Given the description of an element on the screen output the (x, y) to click on. 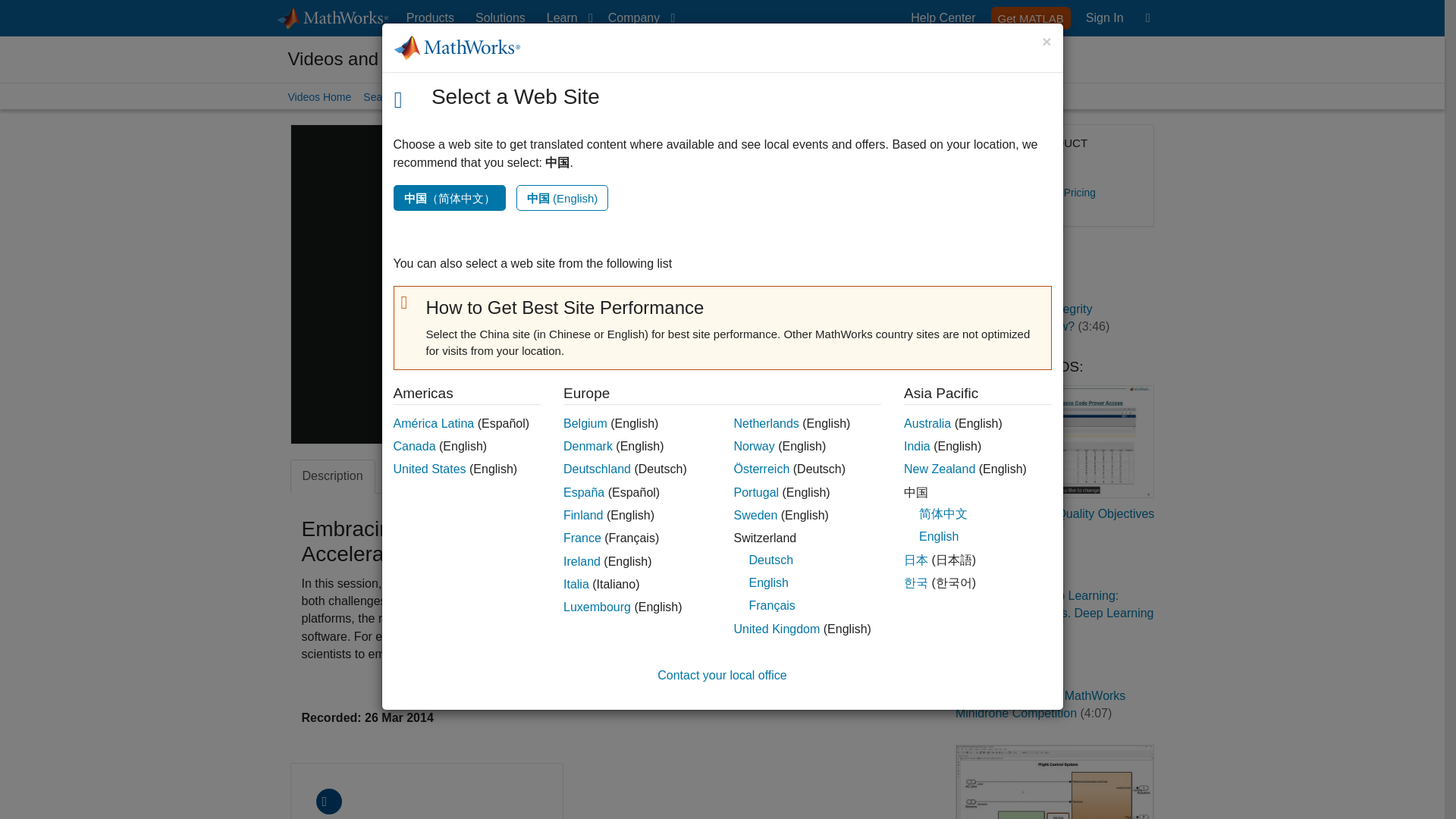
Learn (1104, 18)
Solutions (566, 18)
Play Video (499, 18)
Products (574, 284)
Get MATLAB (430, 18)
Sign In to Your MathWorks Account (1030, 17)
Help Center (1104, 18)
Company (942, 18)
